Given the description of an element on the screen output the (x, y) to click on. 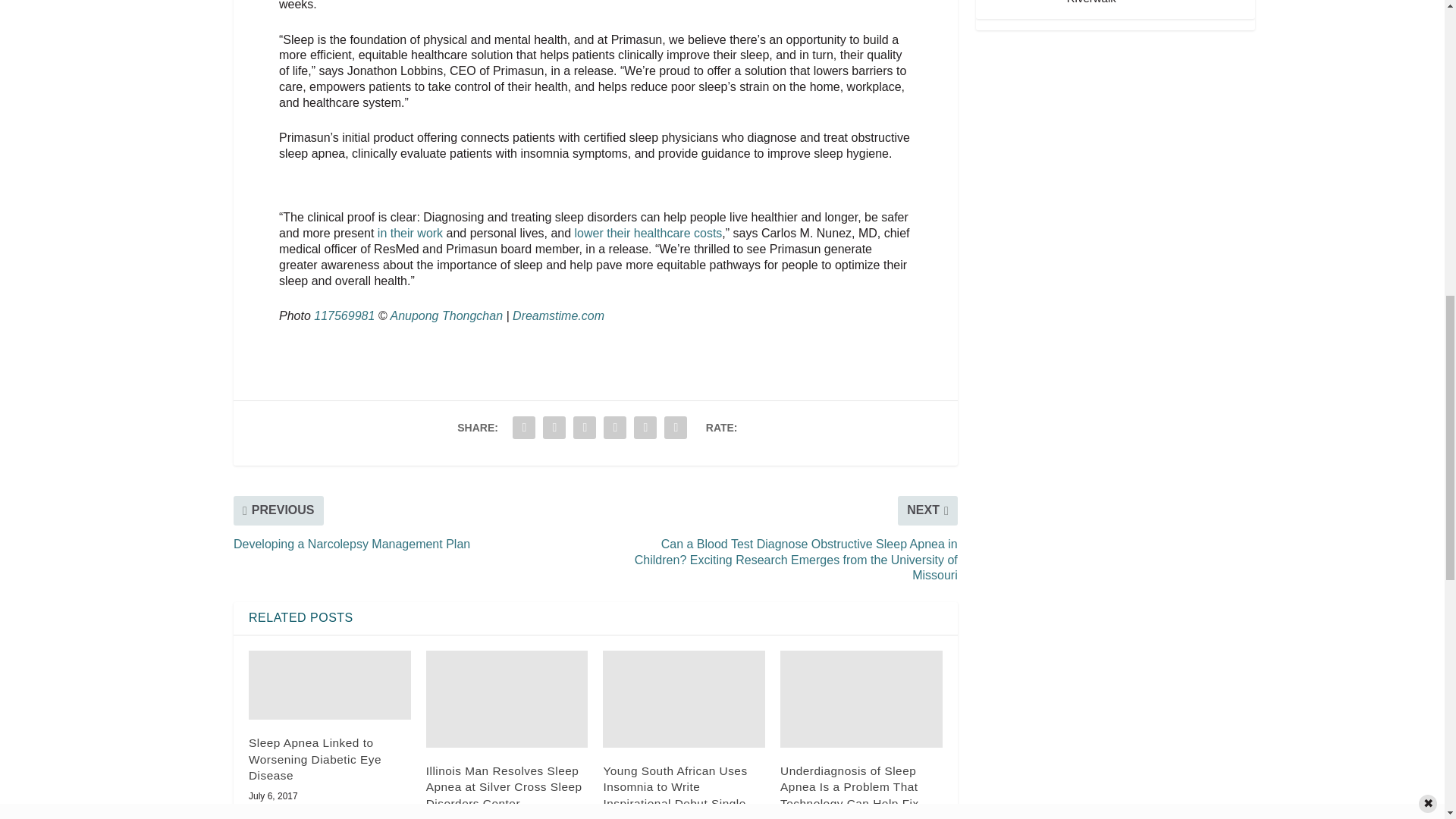
Sleep Apnea Linked to Worsening Diabetic Eye Disease (329, 685)
